Given the description of an element on the screen output the (x, y) to click on. 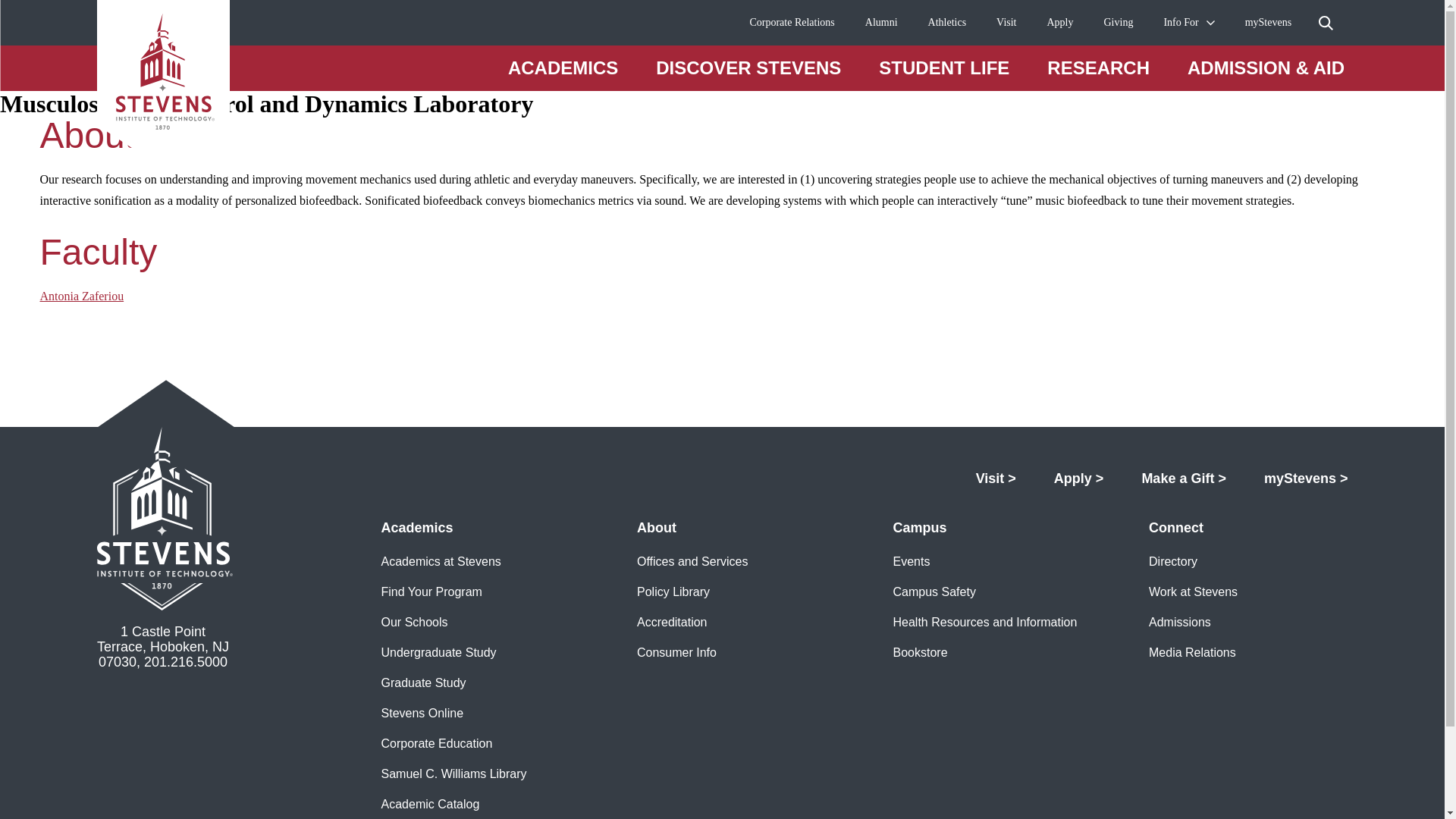
Visit (1005, 22)
Corporate Relations (791, 22)
Info For (1180, 22)
Giving (1118, 22)
myStevens (1267, 22)
ACADEMICS (562, 67)
Athletics (947, 22)
Apply (1059, 22)
Alumni (881, 22)
